Given the description of an element on the screen output the (x, y) to click on. 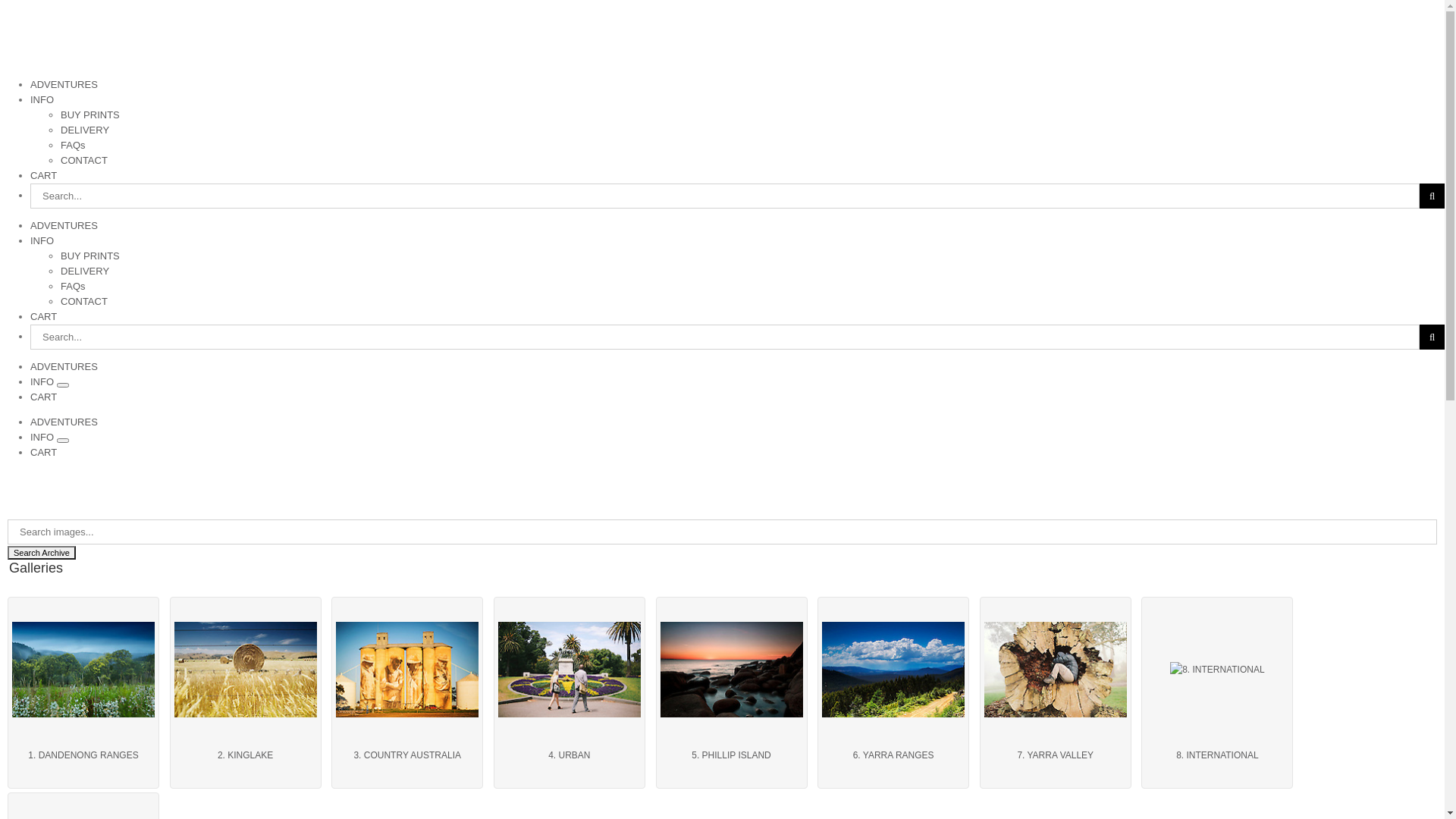
CART Element type: text (43, 175)
CART Element type: text (43, 396)
ADVENTURES Element type: text (63, 421)
1. DANDENONG RANGES Element type: text (83, 754)
7. YARRA VALLEY Element type: hover (1055, 669)
INFO Element type: text (41, 240)
2. KINGLAKE Element type: text (245, 754)
FAQs Element type: text (72, 285)
8. INTERNATIONAL Element type: hover (1217, 669)
4. URBAN Element type: hover (569, 669)
INFO Element type: text (43, 381)
6. YARRA RANGES Element type: text (893, 754)
6. YARRA RANGES Element type: hover (893, 669)
ADVENTURES Element type: text (63, 366)
4. URBAN Element type: text (569, 754)
CART Element type: text (43, 316)
CART Element type: text (43, 452)
3. COUNTRY AUSTRALIA Element type: text (406, 754)
INFO Element type: text (43, 436)
BUY PRINTS Element type: text (89, 114)
ADVENTURES Element type: text (63, 84)
2. KINGLAKE Element type: hover (245, 669)
DELIVERY Element type: text (84, 129)
CONTACT Element type: text (83, 301)
ADVENTURES Element type: text (63, 225)
8. INTERNATIONAL Element type: text (1216, 754)
5. PHILLIP ISLAND Element type: text (730, 754)
7. YARRA VALLEY Element type: text (1055, 754)
Search Archive Element type: text (41, 552)
DELIVERY Element type: text (84, 270)
5. PHILLIP ISLAND Element type: hover (730, 669)
INFO Element type: text (41, 99)
FAQs Element type: text (72, 144)
3. COUNTRY AUSTRALIA Element type: hover (406, 669)
1. DANDENONG RANGES Element type: hover (83, 669)
CONTACT Element type: text (83, 160)
BUY PRINTS Element type: text (89, 255)
